Given the description of an element on the screen output the (x, y) to click on. 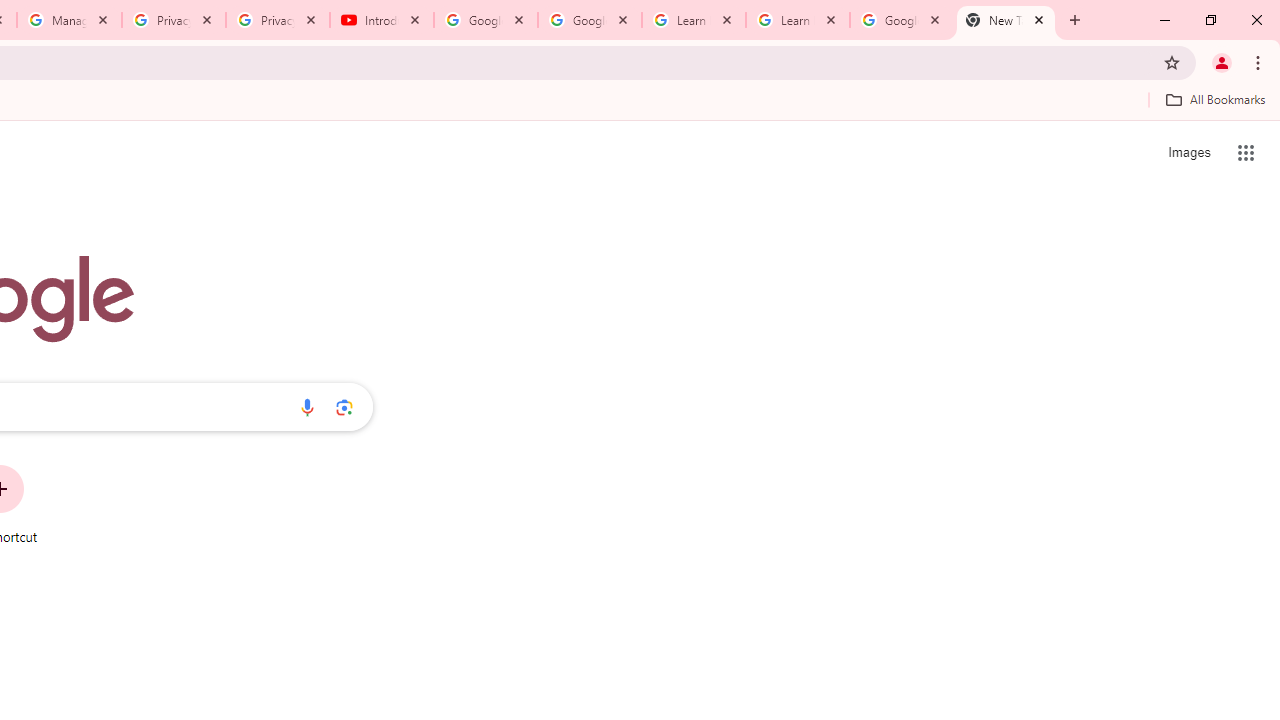
Google Account Help (485, 20)
Search by image (344, 407)
